Given the description of an element on the screen output the (x, y) to click on. 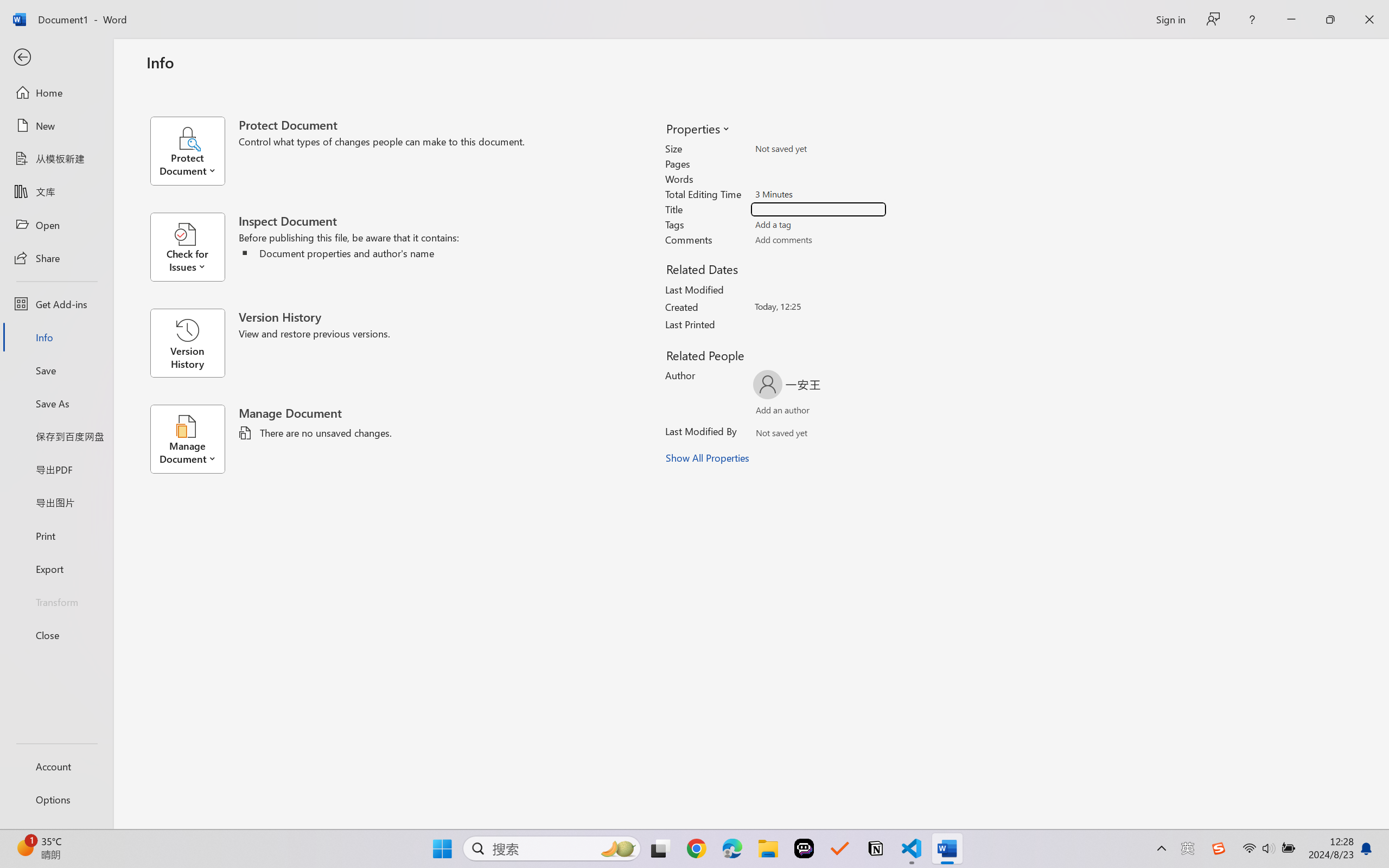
December 20, 2023 (841, 807)
January 15, 2024 (744, 807)
Docs (1138, 71)
March 7, 2024 (463, 807)
Toggle all (884, 417)
Cancel (785, 135)
Pricing and Billing Terms keyboard_arrow_down (689, 611)
Install Google Cloud (1313, 37)
April 9, 2024 (842, 782)
